Given the description of an element on the screen output the (x, y) to click on. 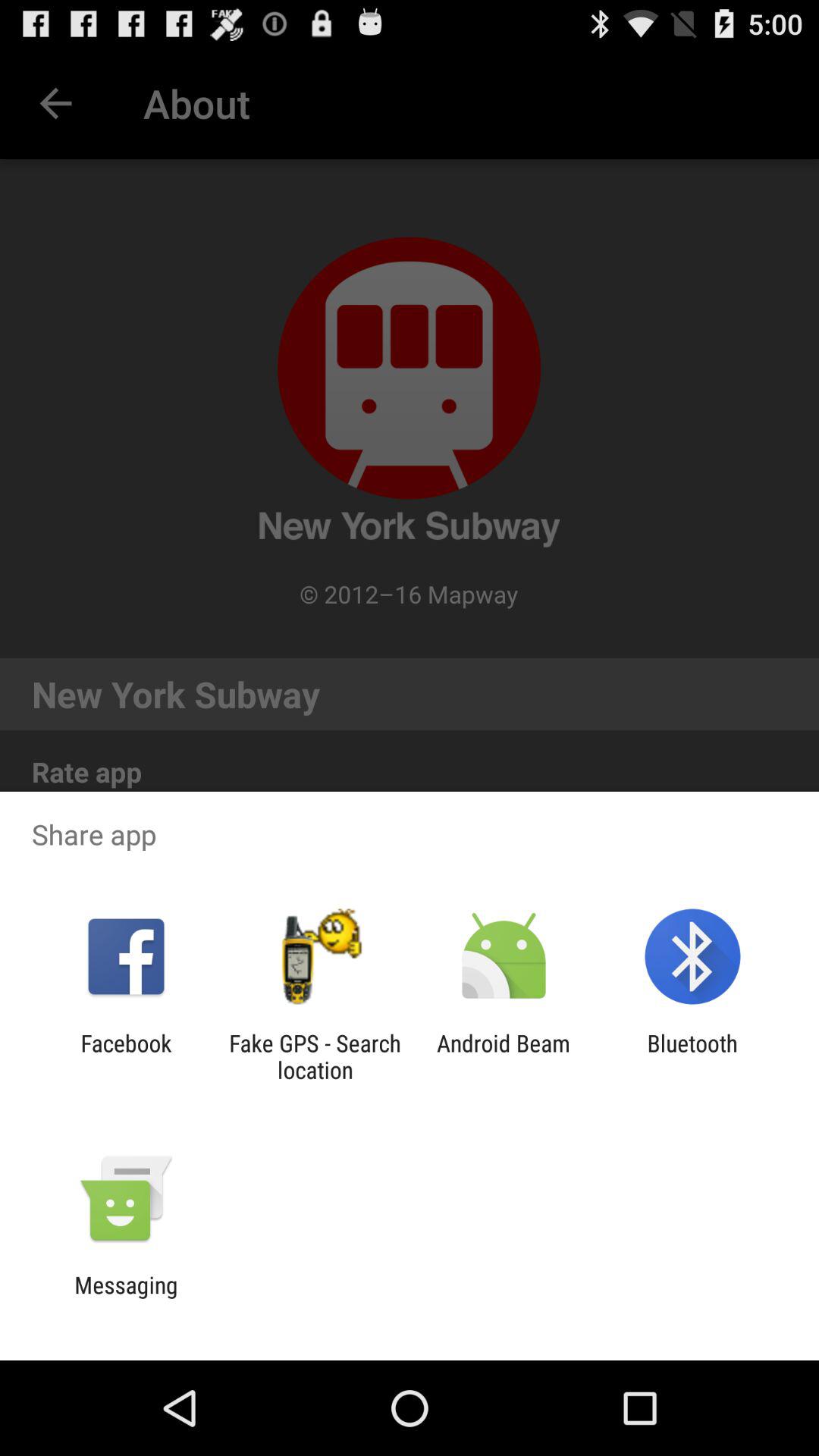
scroll until android beam item (503, 1056)
